Given the description of an element on the screen output the (x, y) to click on. 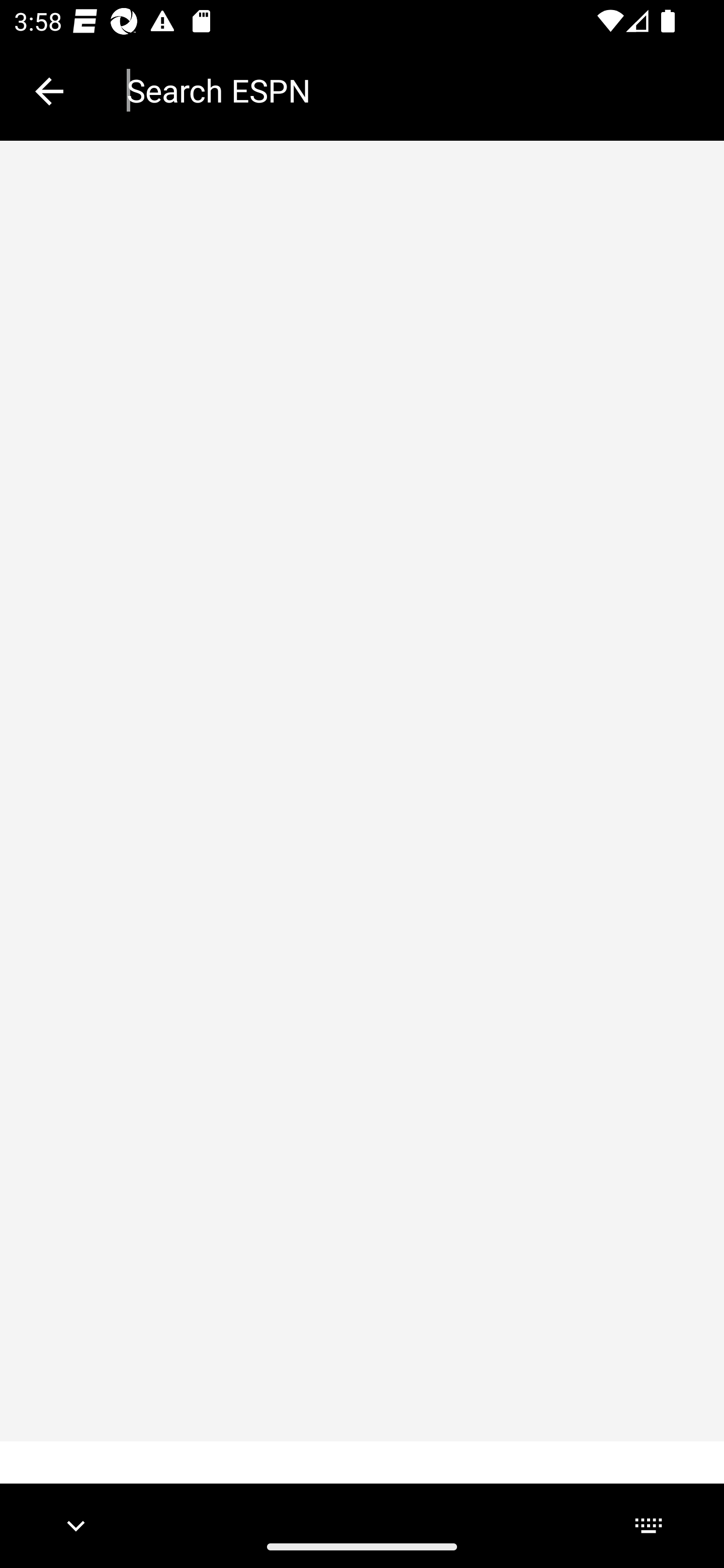
Collapse (49, 91)
Search ESPN (411, 90)
